Given the description of an element on the screen output the (x, y) to click on. 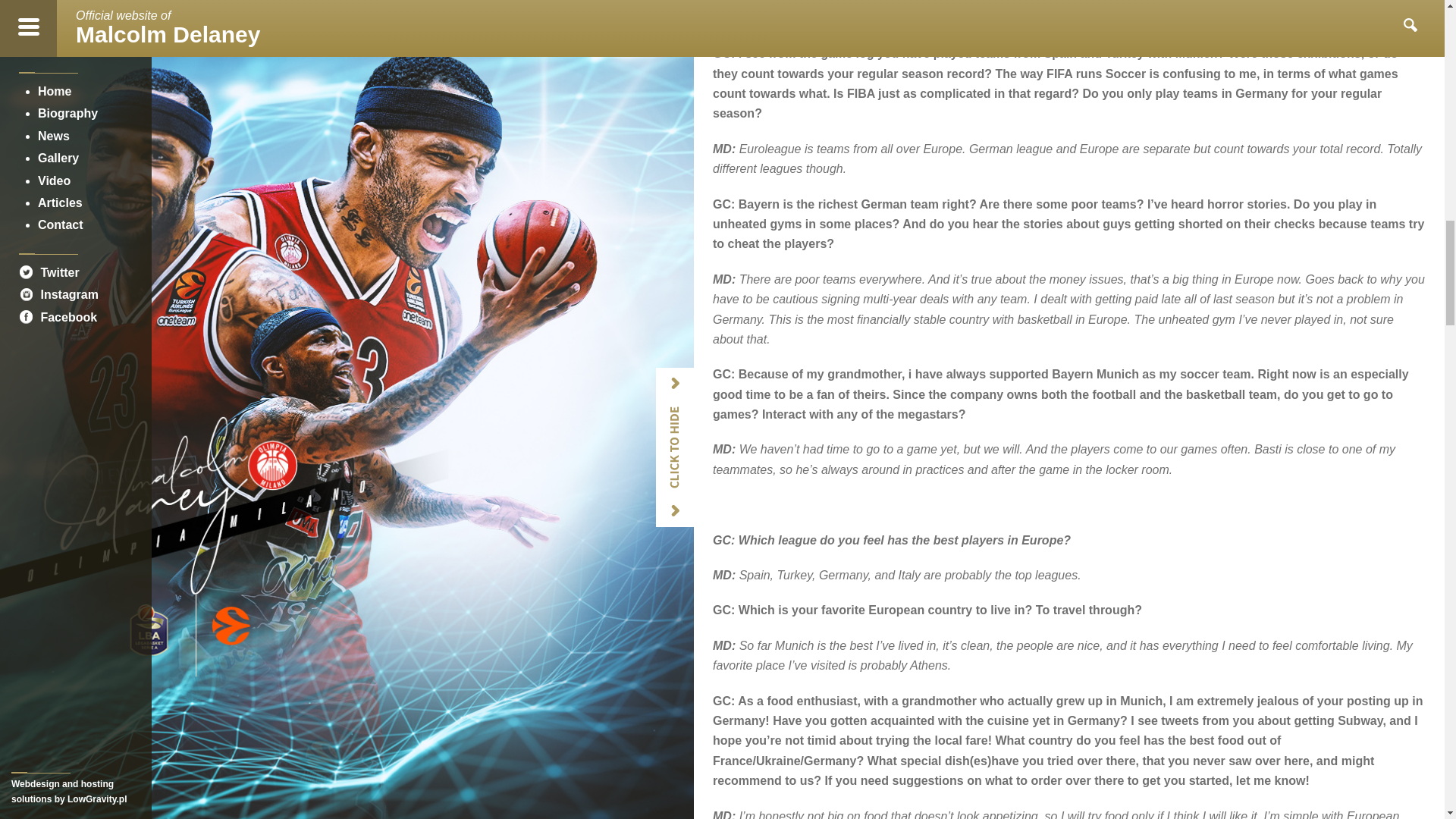
Bryce Taylor (961, 2)
Leo Lyons (764, 18)
Deon Thompson (876, 2)
